Given the description of an element on the screen output the (x, y) to click on. 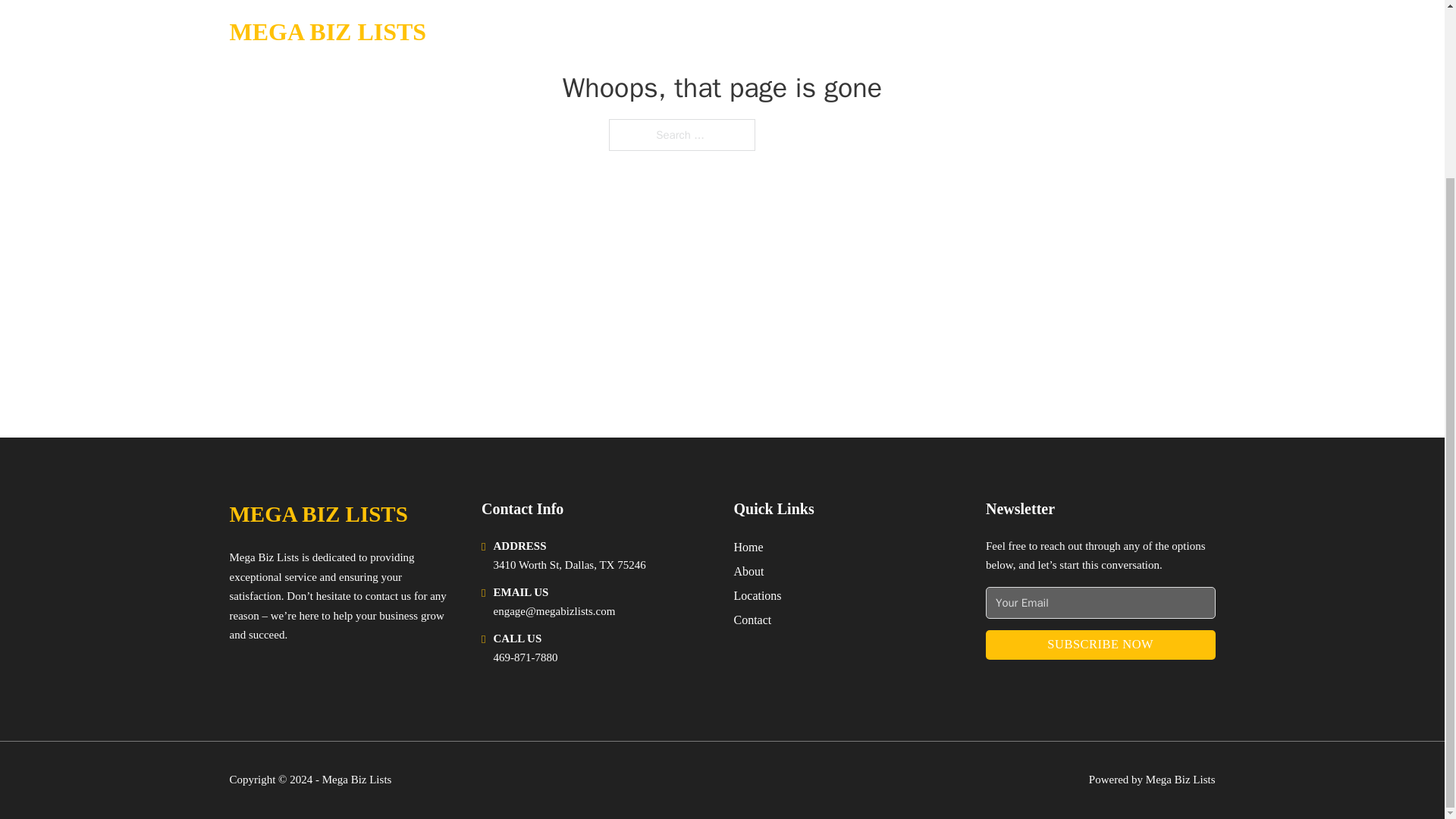
469-871-7880 (525, 657)
Locations (757, 595)
Contact (752, 619)
Home (747, 547)
SUBSCRIBE NOW (1100, 644)
About (748, 571)
MEGA BIZ LISTS (317, 514)
